Given the description of an element on the screen output the (x, y) to click on. 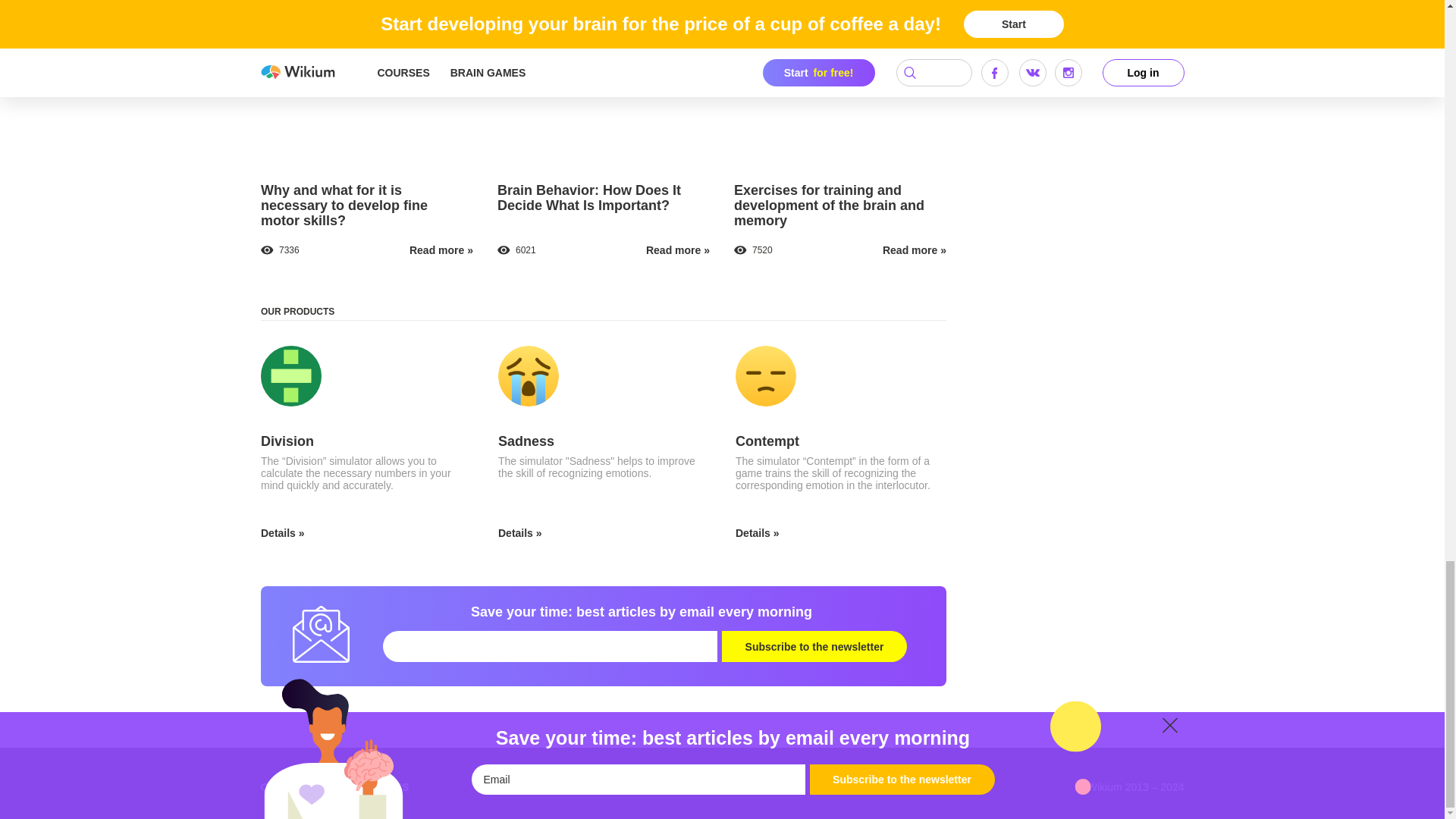
Subscribe to the newsletter (814, 645)
Subscribe to the newsletter (814, 645)
